Given the description of an element on the screen output the (x, y) to click on. 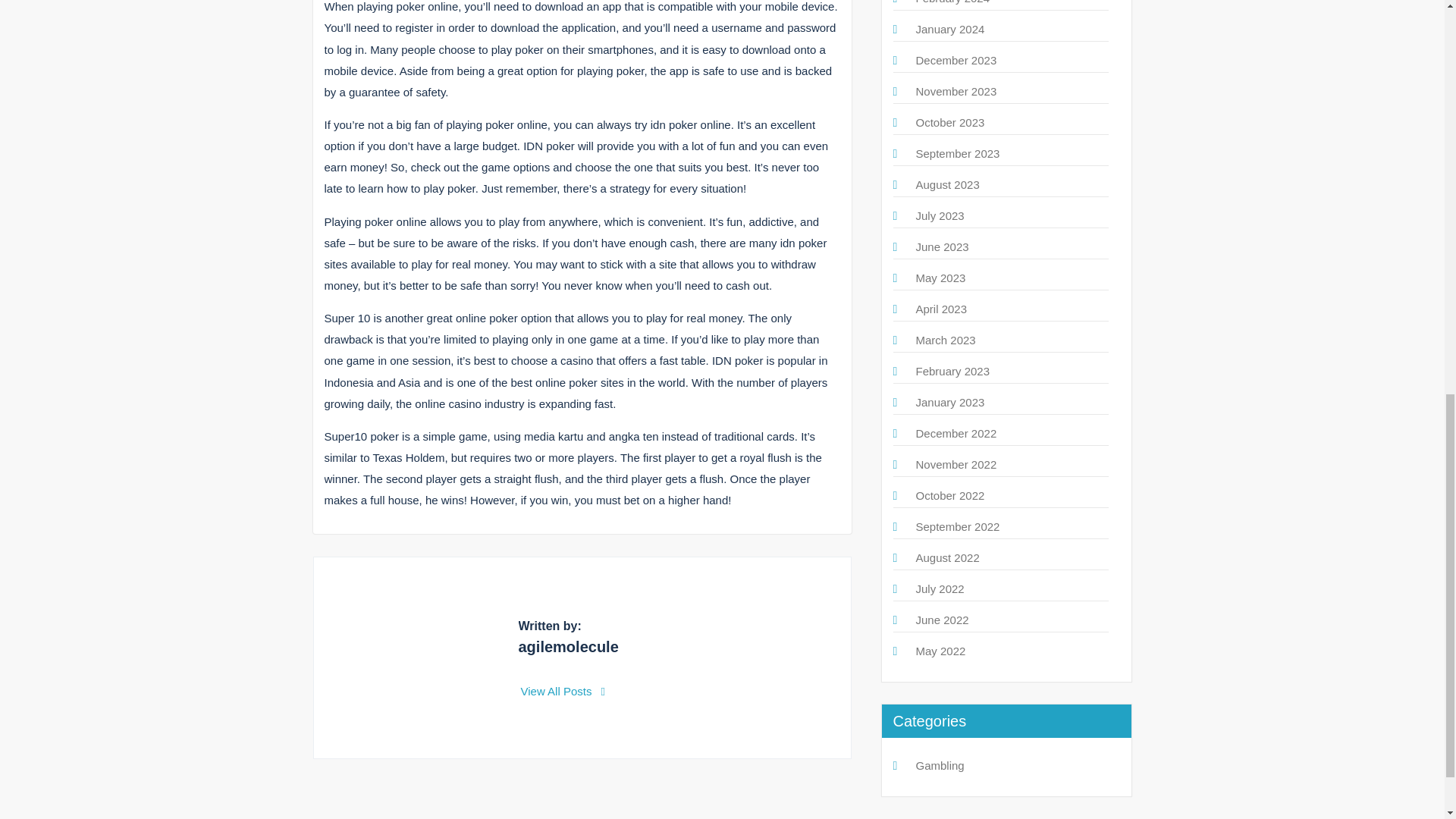
November 2022 (956, 463)
Gambling (939, 765)
July 2022 (939, 588)
June 2023 (942, 246)
January 2024 (950, 29)
May 2023 (940, 277)
September 2022 (957, 526)
August 2022 (947, 557)
February 2024 (952, 2)
September 2023 (957, 153)
March 2023 (945, 339)
February 2023 (952, 370)
June 2022 (942, 619)
July 2023 (939, 215)
January 2023 (950, 401)
